Given the description of an element on the screen output the (x, y) to click on. 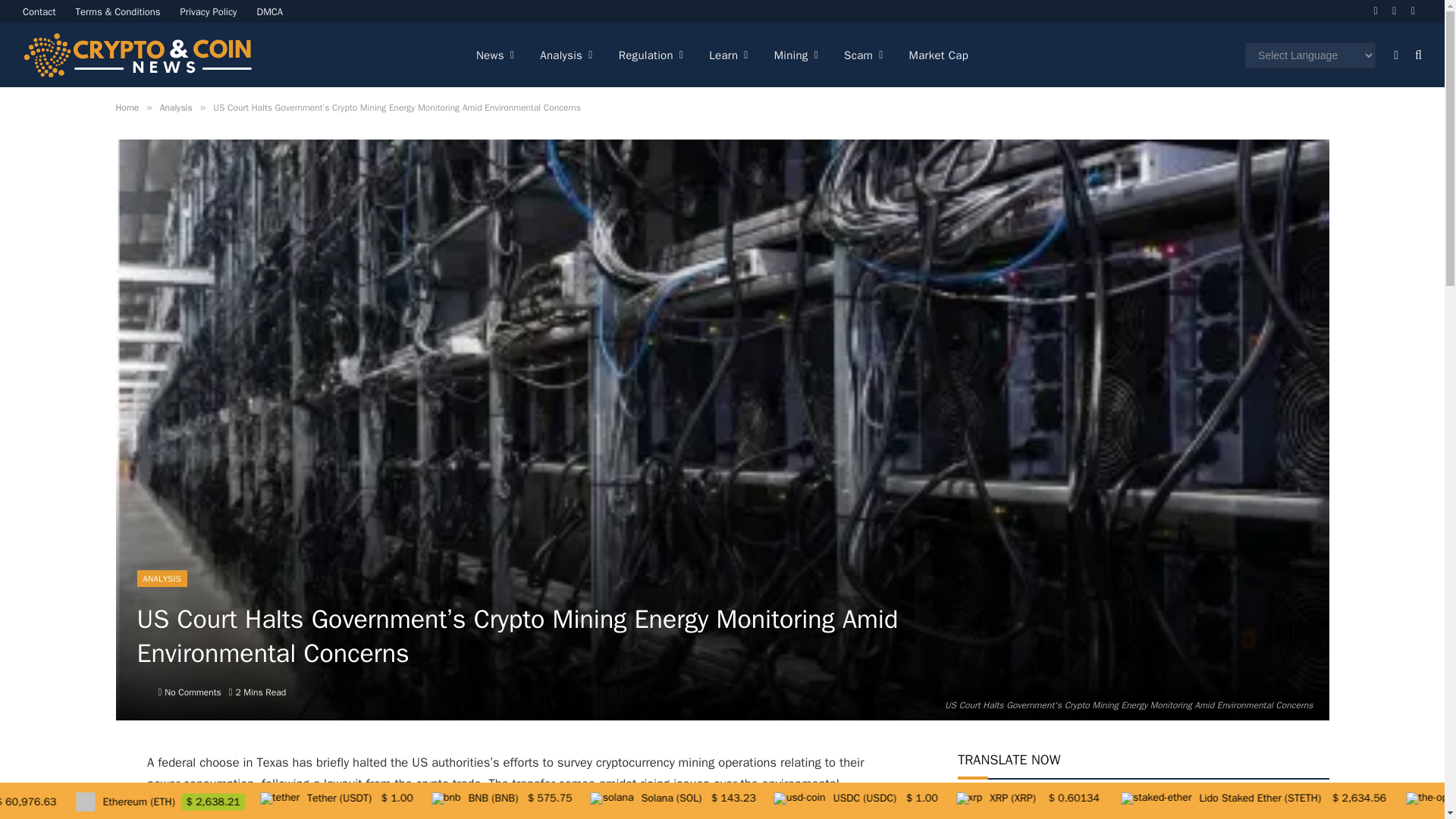
Privacy Policy (208, 11)
Analysis (566, 54)
DMCA (270, 11)
Contact (39, 11)
News (495, 54)
Crypto and Coin (137, 54)
